Given the description of an element on the screen output the (x, y) to click on. 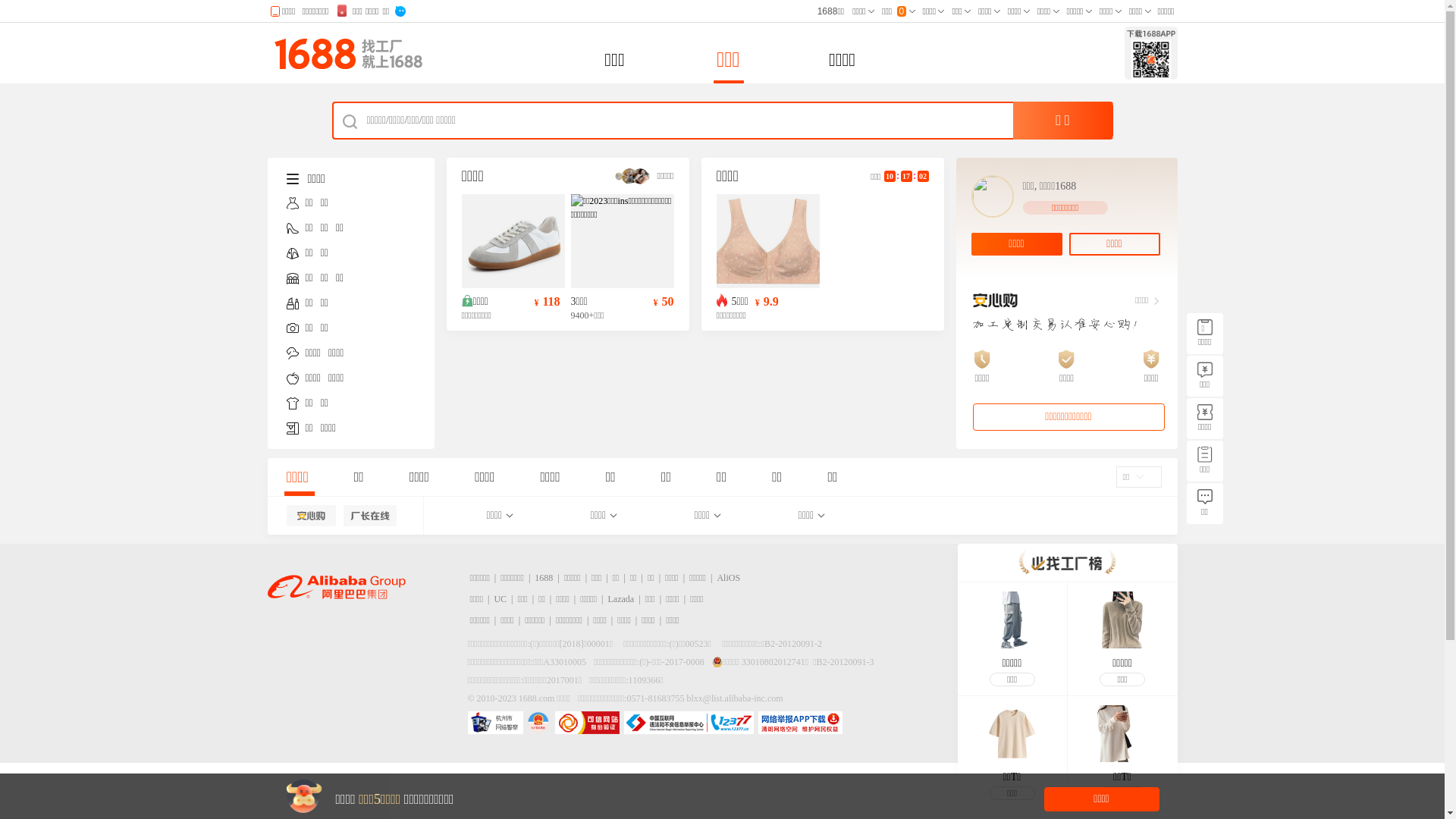
AliOS Element type: text (728, 577)
Lazada Element type: text (621, 598)
1688 Element type: text (543, 577)
UC Element type: text (499, 598)
